Given the description of an element on the screen output the (x, y) to click on. 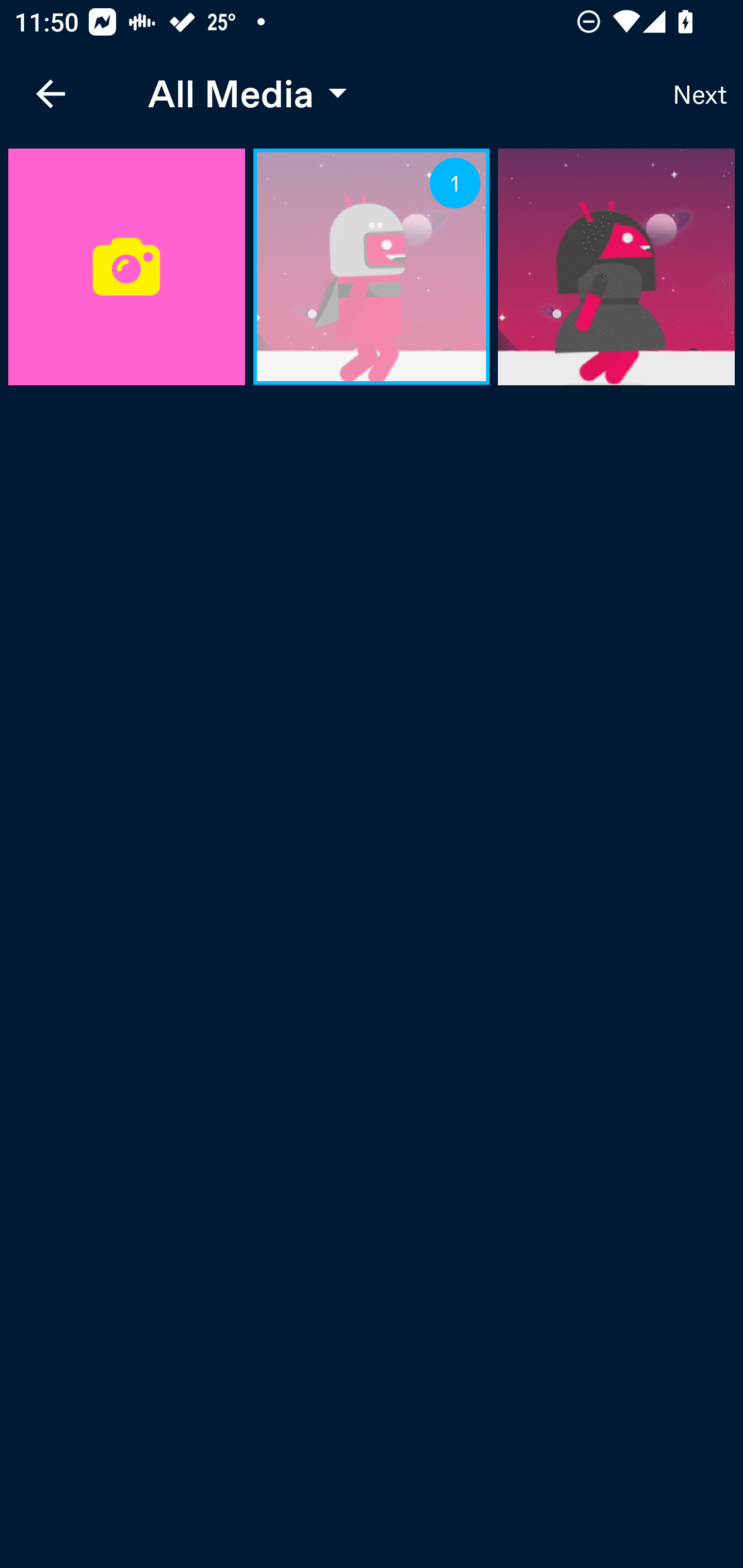
Navigate up (50, 93)
All Media (242, 93)
Next (699, 93)
Gallery Media Item image2 of 3 (615, 266)
1 checkbox for image1 of 3 (454, 183)
